Given the description of an element on the screen output the (x, y) to click on. 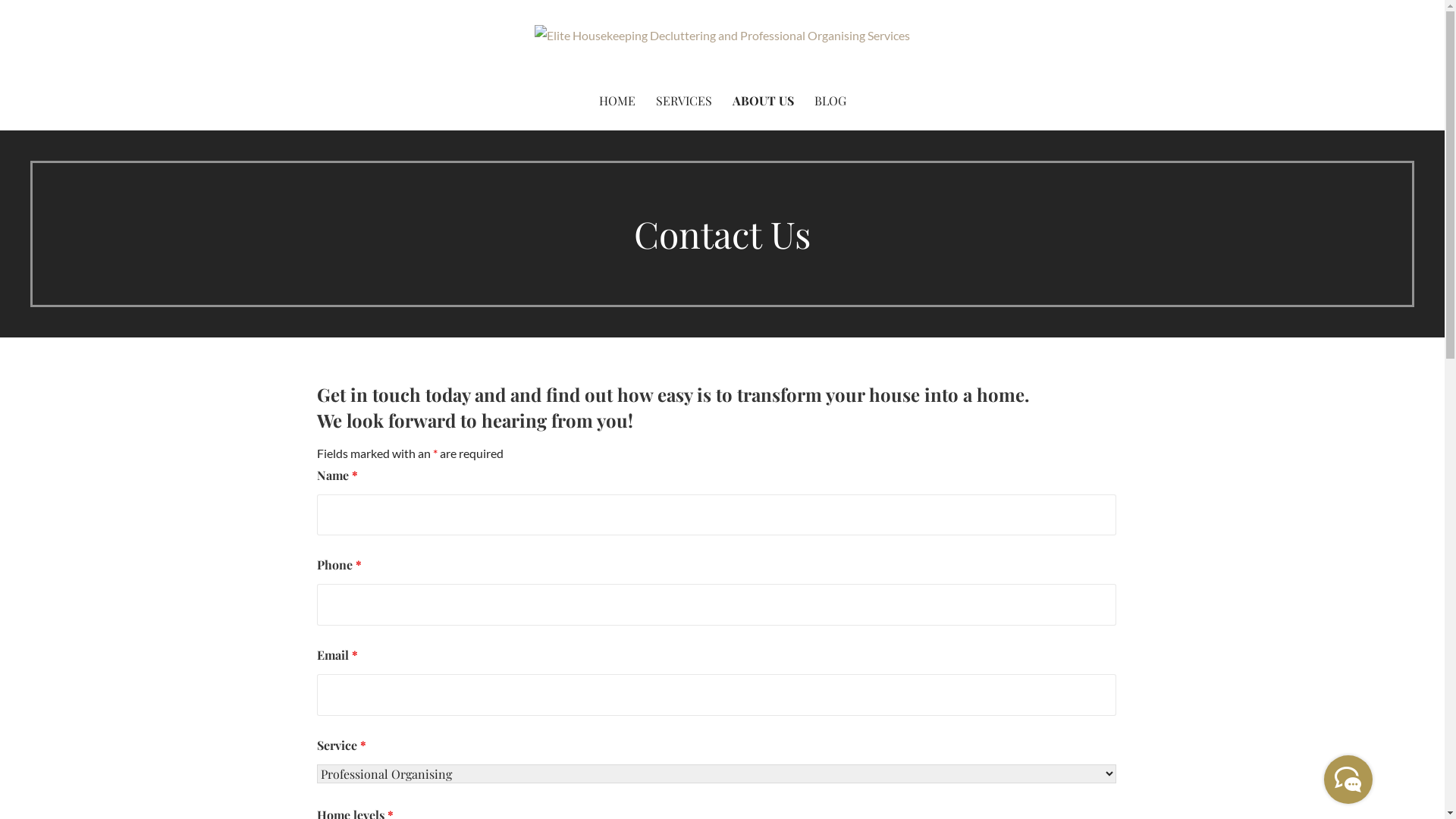
BLOG Element type: text (830, 101)
ABOUT US Element type: text (763, 101)
SERVICES Element type: text (683, 101)
HOME Element type: text (616, 101)
